Given the description of an element on the screen output the (x, y) to click on. 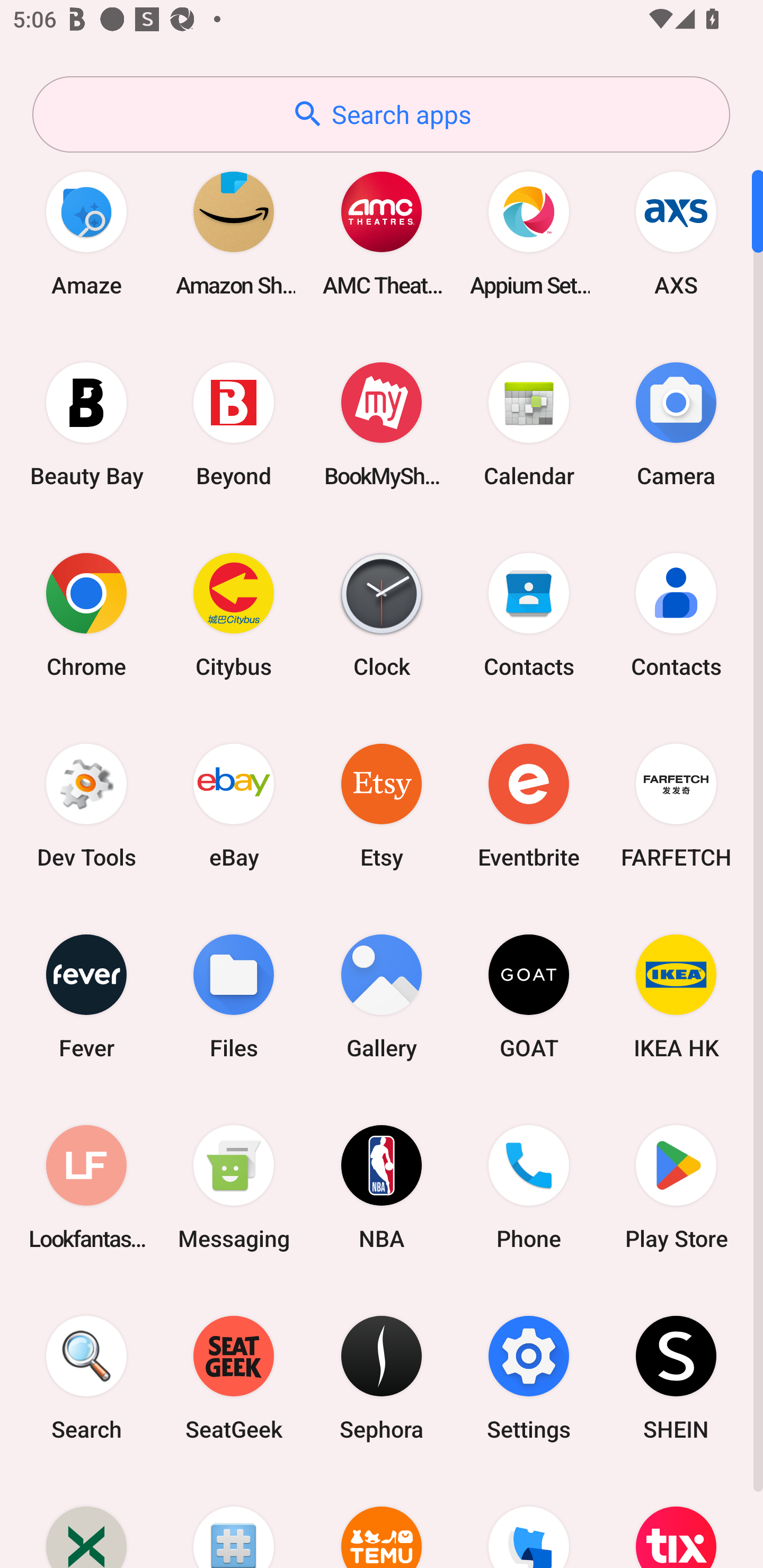
  Search apps (381, 114)
Amaze (86, 233)
Amazon Shopping (233, 233)
AMC Theatres (381, 233)
Appium Settings (528, 233)
AXS (676, 233)
Beauty Bay (86, 424)
Beyond (233, 424)
BookMyShow (381, 424)
Calendar (528, 424)
Camera (676, 424)
Chrome (86, 614)
Citybus (233, 614)
Clock (381, 614)
Contacts (528, 614)
Contacts (676, 614)
Dev Tools (86, 805)
eBay (233, 805)
Etsy (381, 805)
Eventbrite (528, 805)
FARFETCH (676, 805)
Fever (86, 996)
Files (233, 996)
Gallery (381, 996)
GOAT (528, 996)
IKEA HK (676, 996)
Lookfantastic (86, 1186)
Messaging (233, 1186)
NBA (381, 1186)
Phone (528, 1186)
Play Store (676, 1186)
Search (86, 1377)
SeatGeek (233, 1377)
Sephora (381, 1377)
Settings (528, 1377)
SHEIN (676, 1377)
StockX (86, 1520)
Superuser (233, 1520)
Temu (381, 1520)
TickPick (528, 1520)
TodayTix (676, 1520)
